Given the description of an element on the screen output the (x, y) to click on. 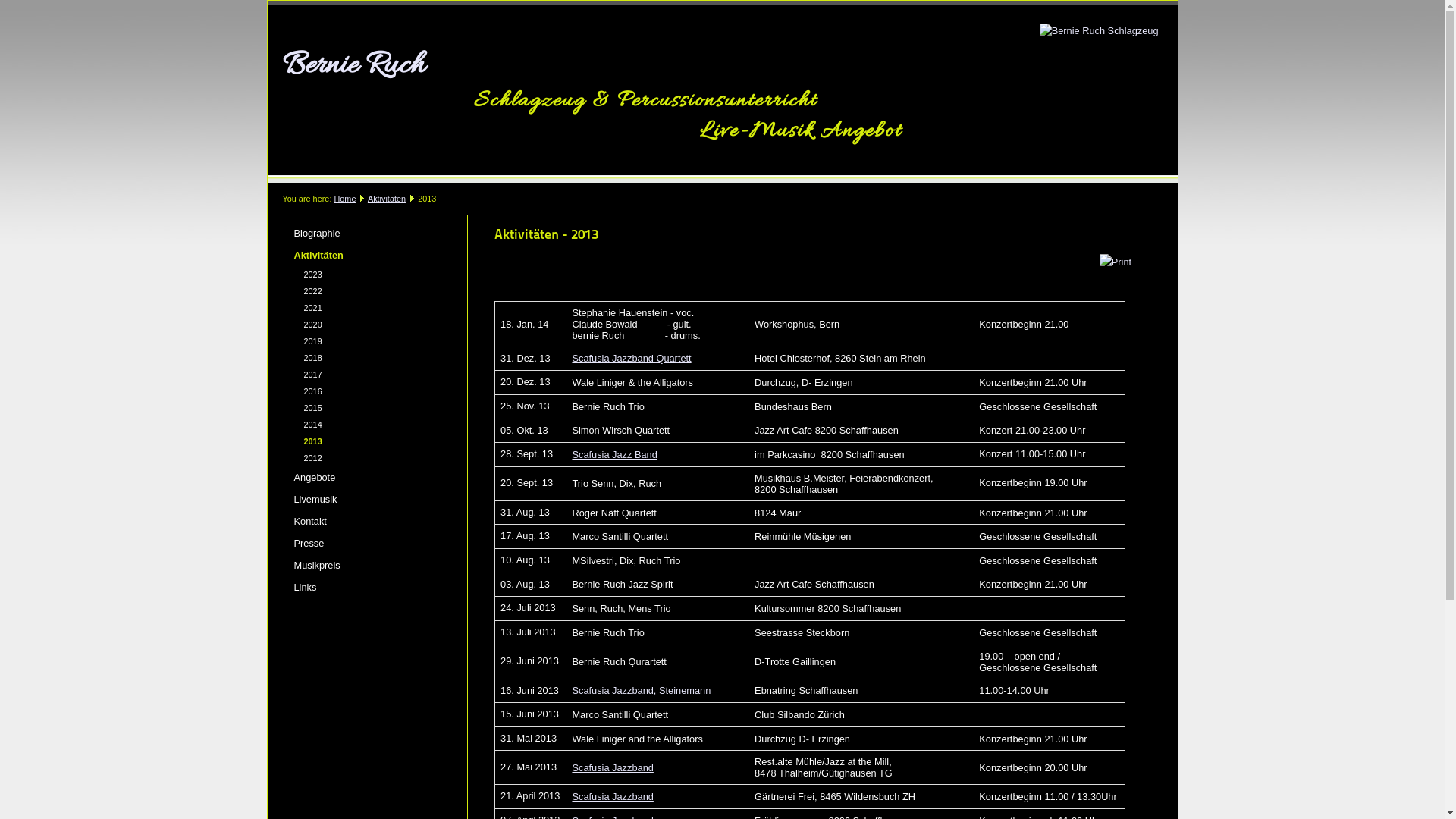
Scafusia Jazzband Quartett Element type: text (630, 358)
Links Element type: text (361, 587)
Biographie Element type: text (361, 233)
Kontakt Element type: text (361, 521)
Scafusia Jazz Band Element type: text (613, 454)
2020 Element type: text (361, 324)
2015 Element type: text (361, 407)
Livemusik Element type: text (361, 499)
Presse Element type: text (361, 543)
2023 Element type: text (361, 274)
2013 Element type: text (361, 441)
2019 Element type: text (361, 340)
2021 Element type: text (361, 307)
2014 Element type: text (361, 424)
2012 Element type: text (361, 457)
2017 Element type: text (361, 374)
Home Element type: text (344, 198)
Musikpreis Element type: text (361, 565)
2016 Element type: text (361, 390)
Scafusia Jazzband Element type: text (611, 767)
Scafusia Jazzband, Steinemann Element type: text (640, 690)
2022 Element type: text (361, 290)
Scafusia Jazzband Element type: text (611, 796)
Angebote Element type: text (361, 477)
2018 Element type: text (361, 357)
